Given the description of an element on the screen output the (x, y) to click on. 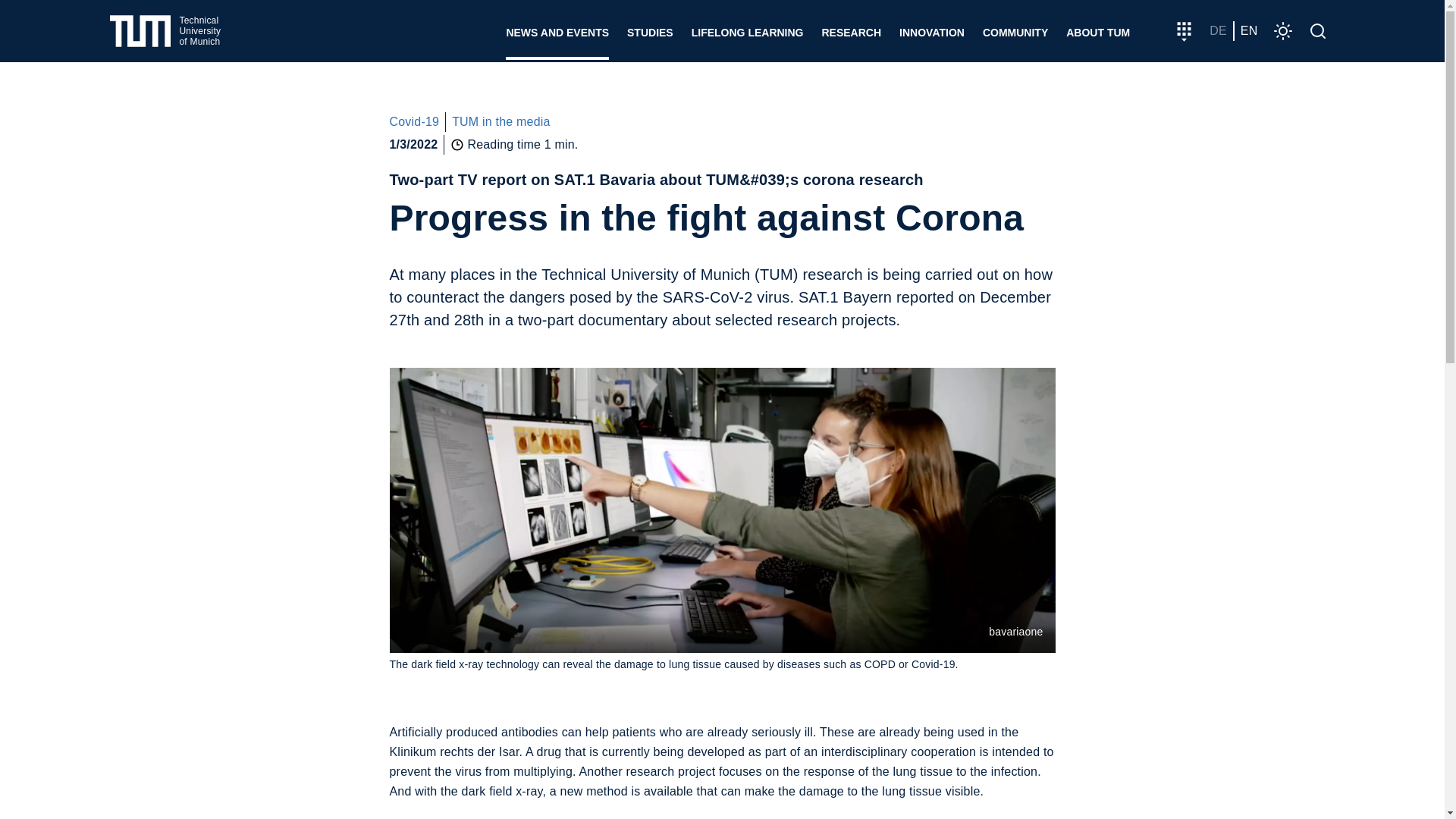
NEWS AND EVENTS (556, 30)
Technical University of Munich - Home (165, 31)
